Given the description of an element on the screen output the (x, y) to click on. 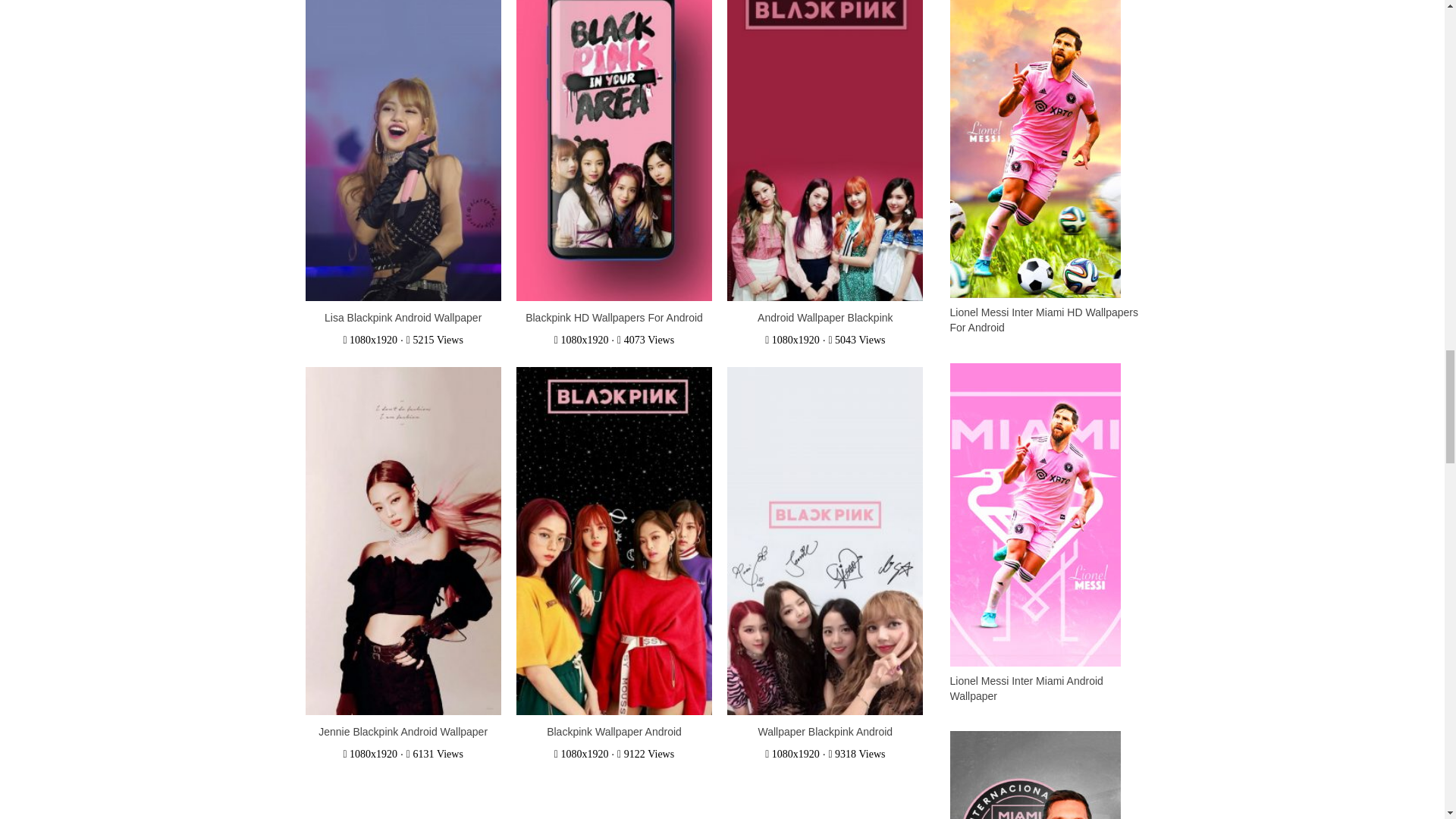
Android Wallpaper Blackpink (824, 317)
Android Wallpaper Blackpink (824, 128)
Lisa Blackpink Android Wallpaper (402, 317)
Lisa Blackpink Android Wallpaper (402, 128)
Blackpink HD Wallpapers For Android (614, 317)
Lisa Blackpink Android Wallpaper (402, 317)
Blackpink Wallpaper Android (614, 731)
Blackpink HD Wallpapers For Android (613, 128)
Blackpink HD Wallpapers For Android (614, 317)
Jennie Blackpink Android Wallpaper (402, 731)
